Given the description of an element on the screen output the (x, y) to click on. 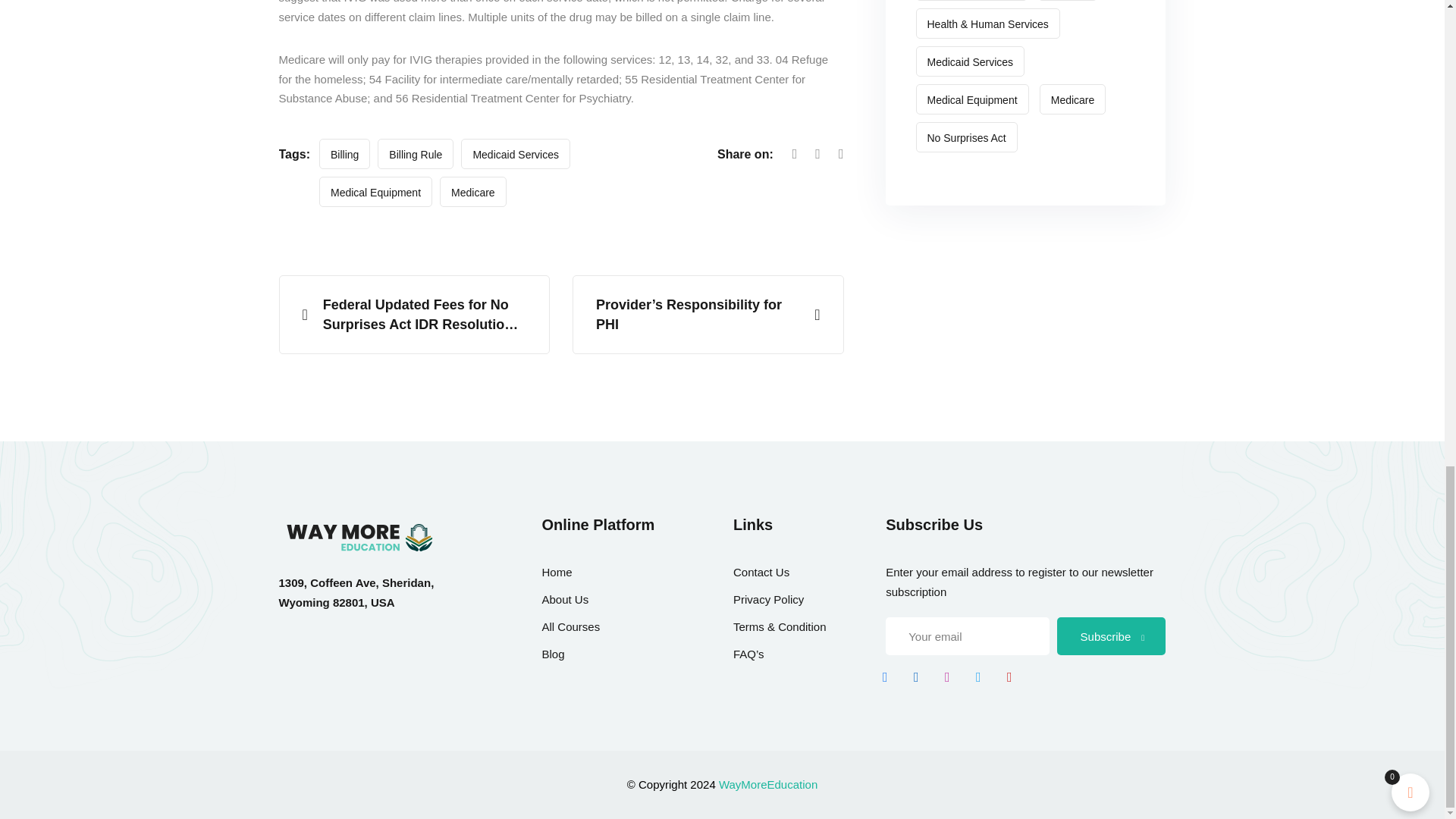
Medicaid Services (515, 153)
Medical Equipment (375, 191)
Billing (343, 153)
Medicare (472, 191)
Billing Rule (414, 153)
